Given the description of an element on the screen output the (x, y) to click on. 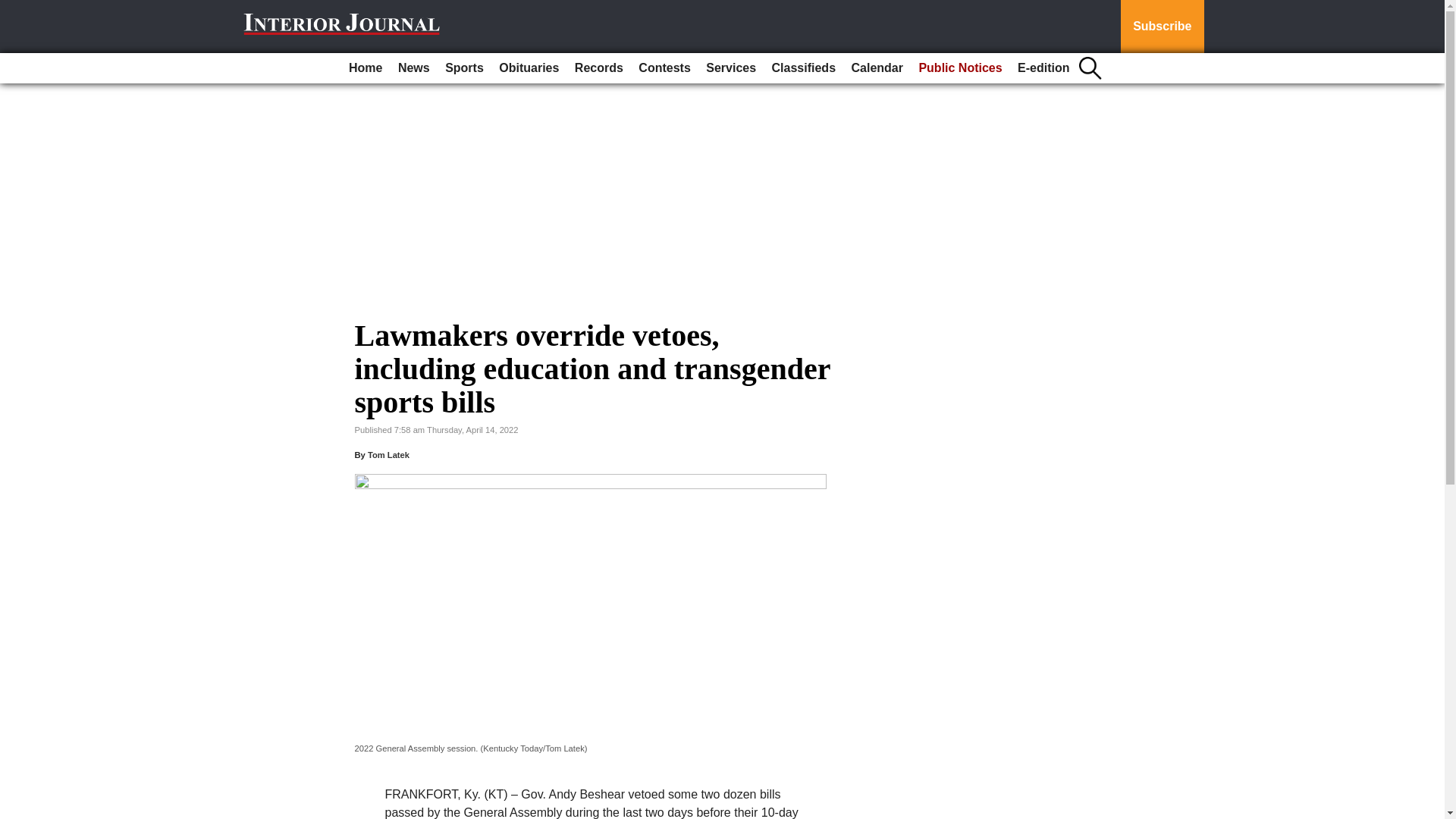
Go (13, 9)
Obituaries (528, 68)
Home (365, 68)
Classifieds (803, 68)
News (413, 68)
Calendar (876, 68)
Sports (464, 68)
E-edition (1043, 68)
Services (730, 68)
Public Notices (959, 68)
